Given the description of an element on the screen output the (x, y) to click on. 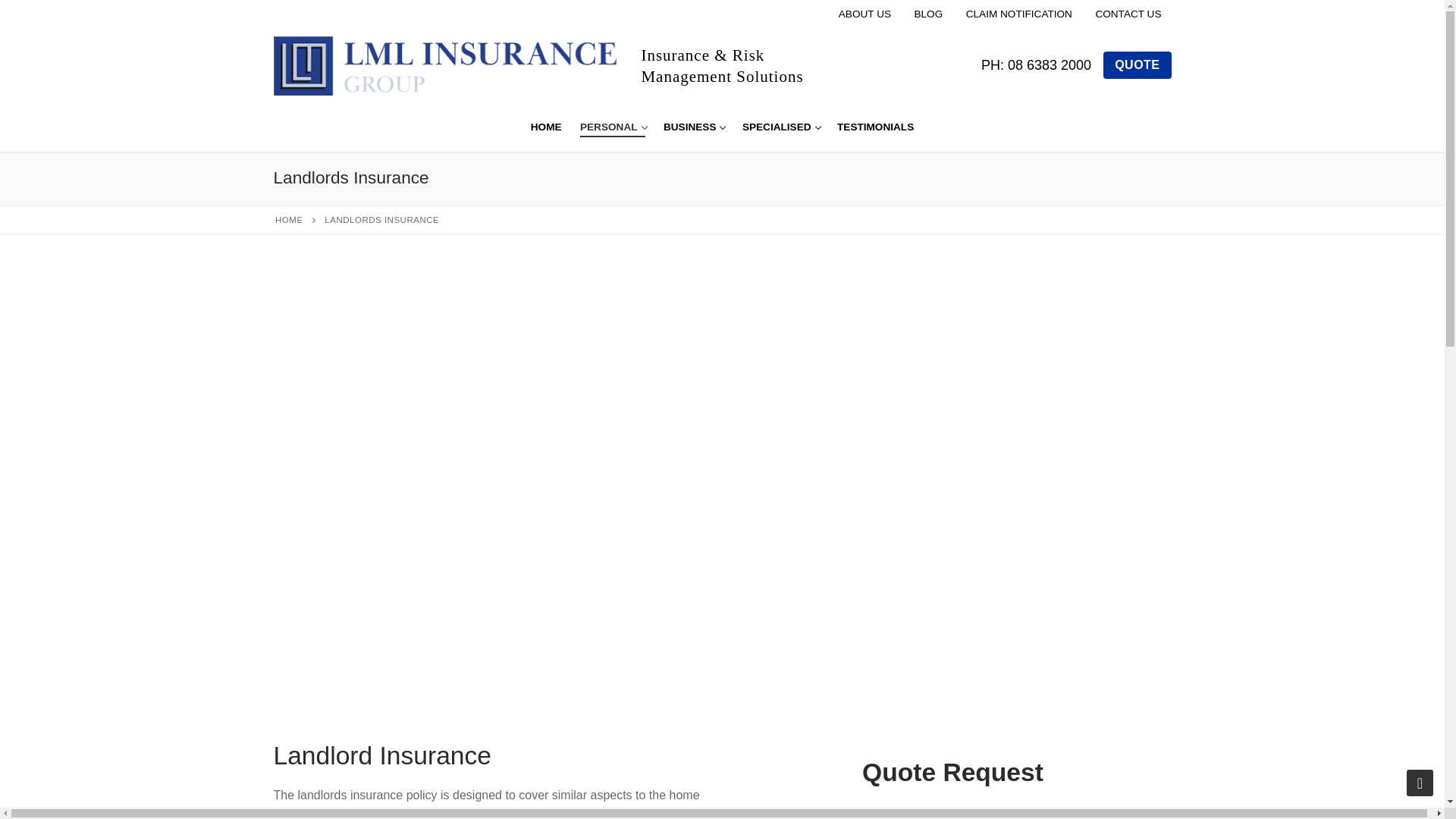
BLOG (612, 127)
QUOTE (928, 14)
PH: 08 6383 2000 (1136, 64)
CLAIM NOTIFICATION (1035, 66)
HOME (1018, 14)
TESTIMONIALS (545, 127)
CONTACT US (875, 127)
